Given the description of an element on the screen output the (x, y) to click on. 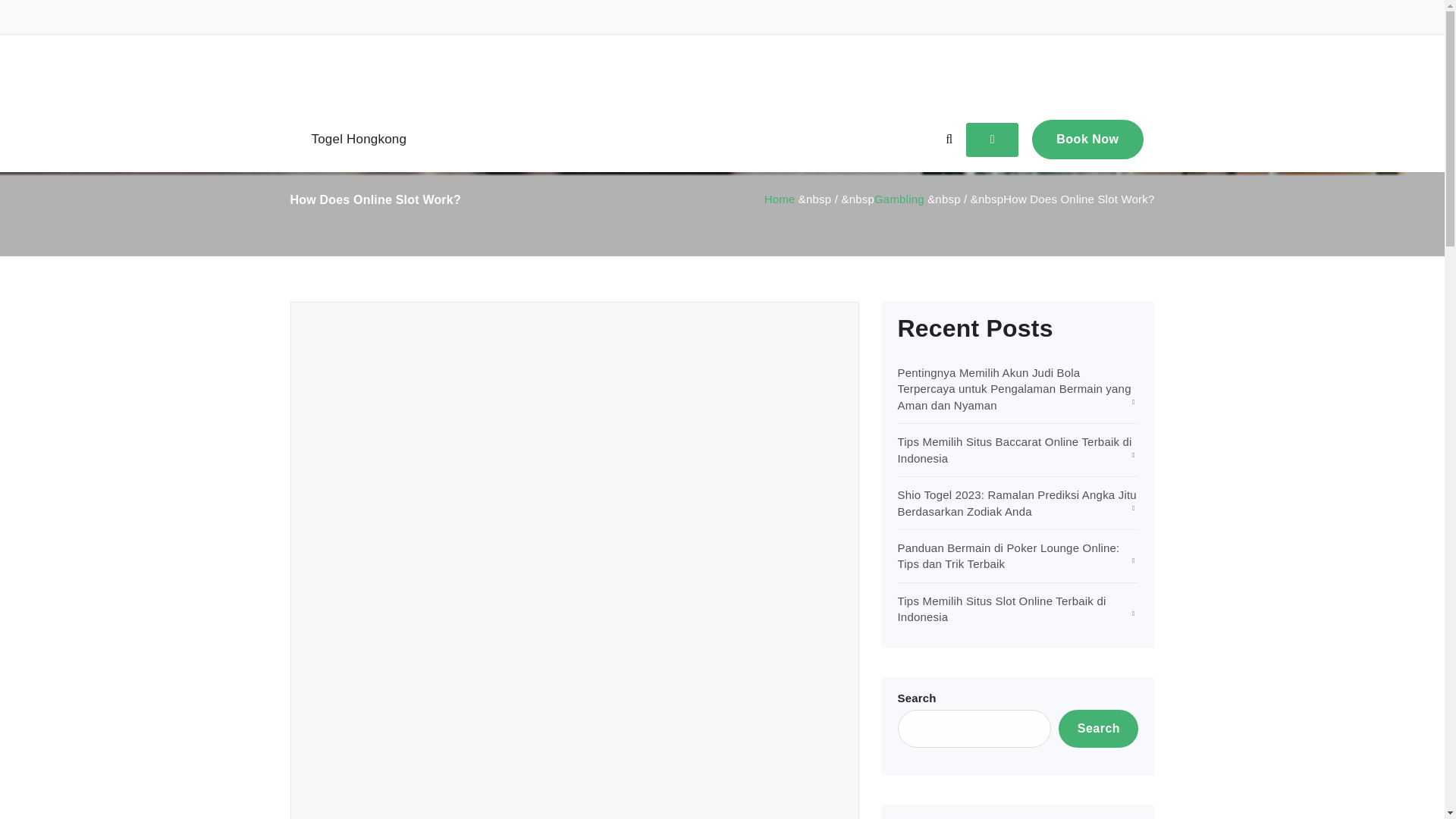
Gambling (392, 319)
Tips Memilih Situs Slot Online Terbaik di Indonesia (1002, 608)
fuerzasaeronavales (721, 71)
Togel Hongkong (357, 139)
Gambling (899, 198)
Book Now (1087, 138)
Home (779, 198)
Tips Memilih Situs Baccarat Online Terbaik di Indonesia (1015, 449)
Search (1098, 728)
adminss (327, 319)
